Given the description of an element on the screen output the (x, y) to click on. 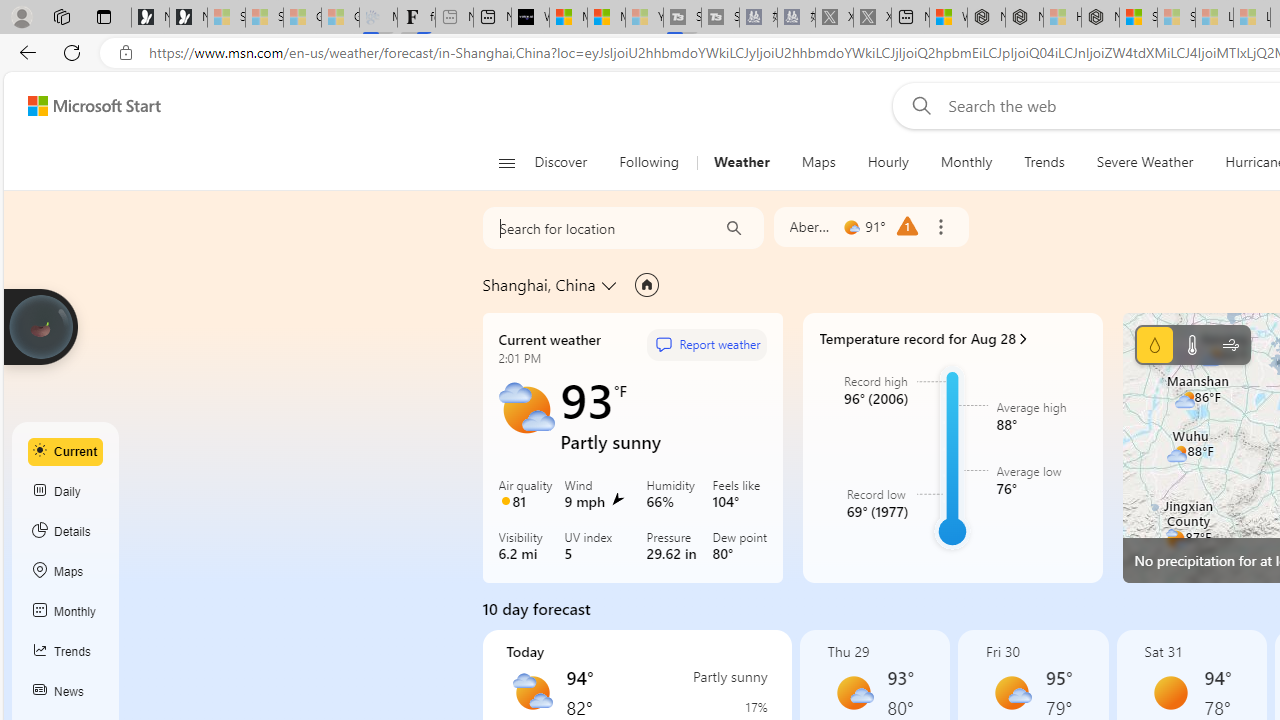
Wind 9 mph (601, 495)
Class: inline-DS-EntryPoint1-1 (1023, 338)
Daily (65, 492)
Maps (65, 572)
Search for location (594, 227)
Class: forecast-history-link (952, 448)
Visibility 6.2 mi (526, 548)
Monthly (966, 162)
Join us in planting real trees to help our planet! (40, 327)
Shanghai, China (539, 284)
